Given the description of an element on the screen output the (x, y) to click on. 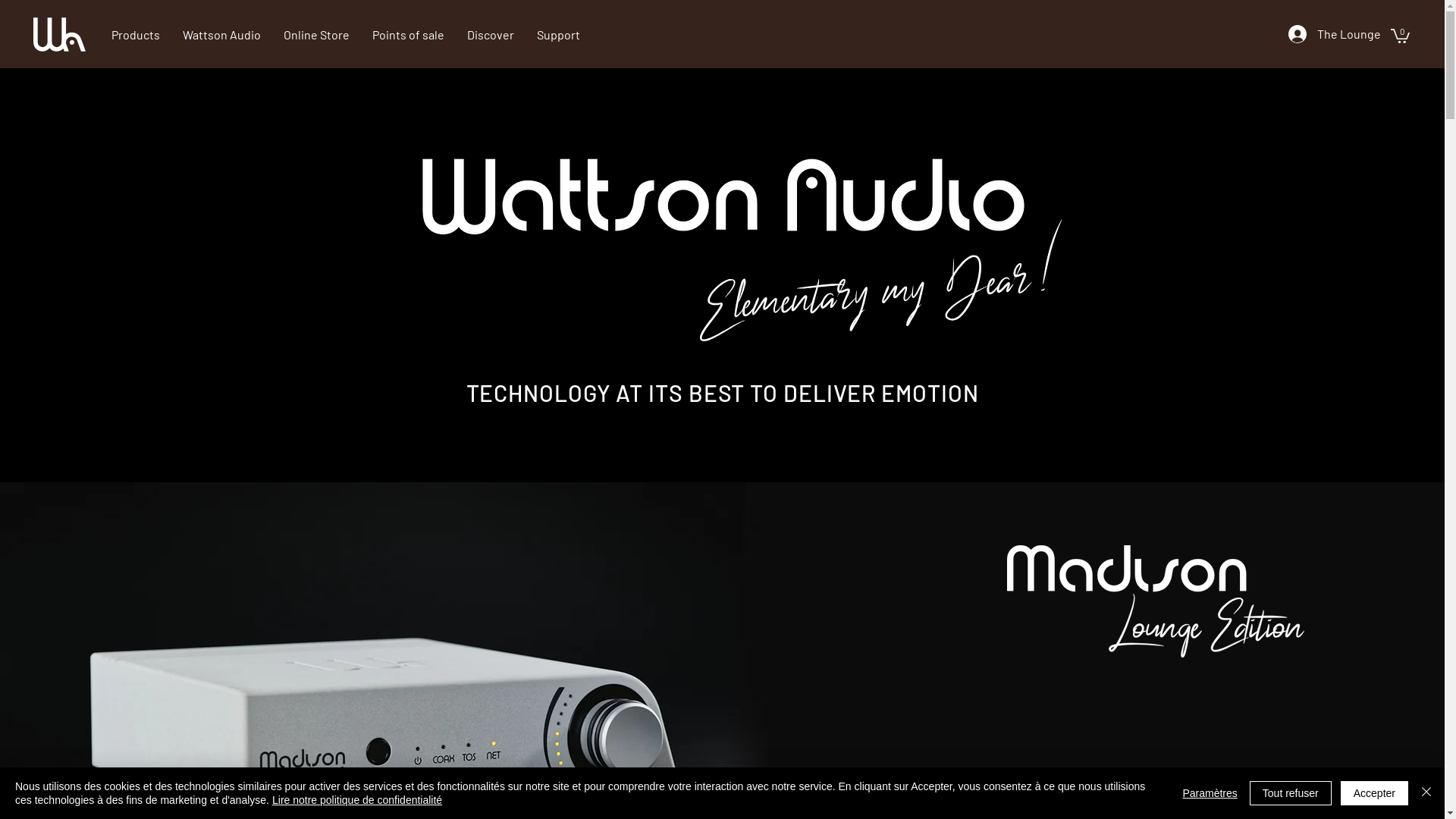
Online Store Element type: text (316, 34)
The Lounge Element type: text (1333, 33)
0 Element type: text (1399, 35)
Accepter Element type: text (1374, 793)
Products Element type: text (135, 34)
Points of sale Element type: text (407, 34)
Support Element type: text (558, 34)
Tout refuser Element type: text (1290, 793)
Wattson Audio Element type: hover (721, 194)
